Given the description of an element on the screen output the (x, y) to click on. 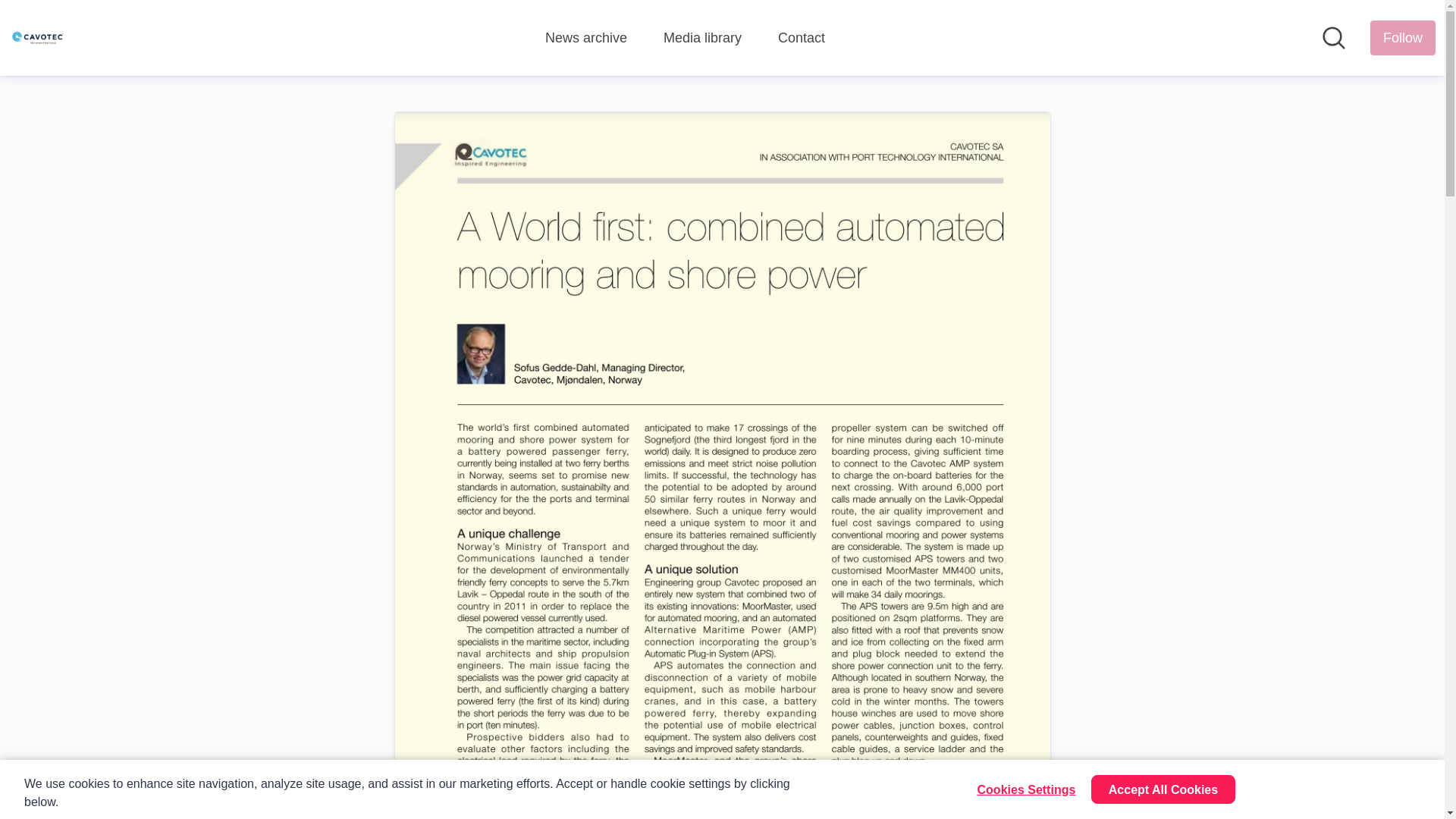
Search in newsroom (1333, 37)
News archive (585, 37)
Follow (1402, 37)
Contact (801, 37)
Media library (702, 37)
